Given the description of an element on the screen output the (x, y) to click on. 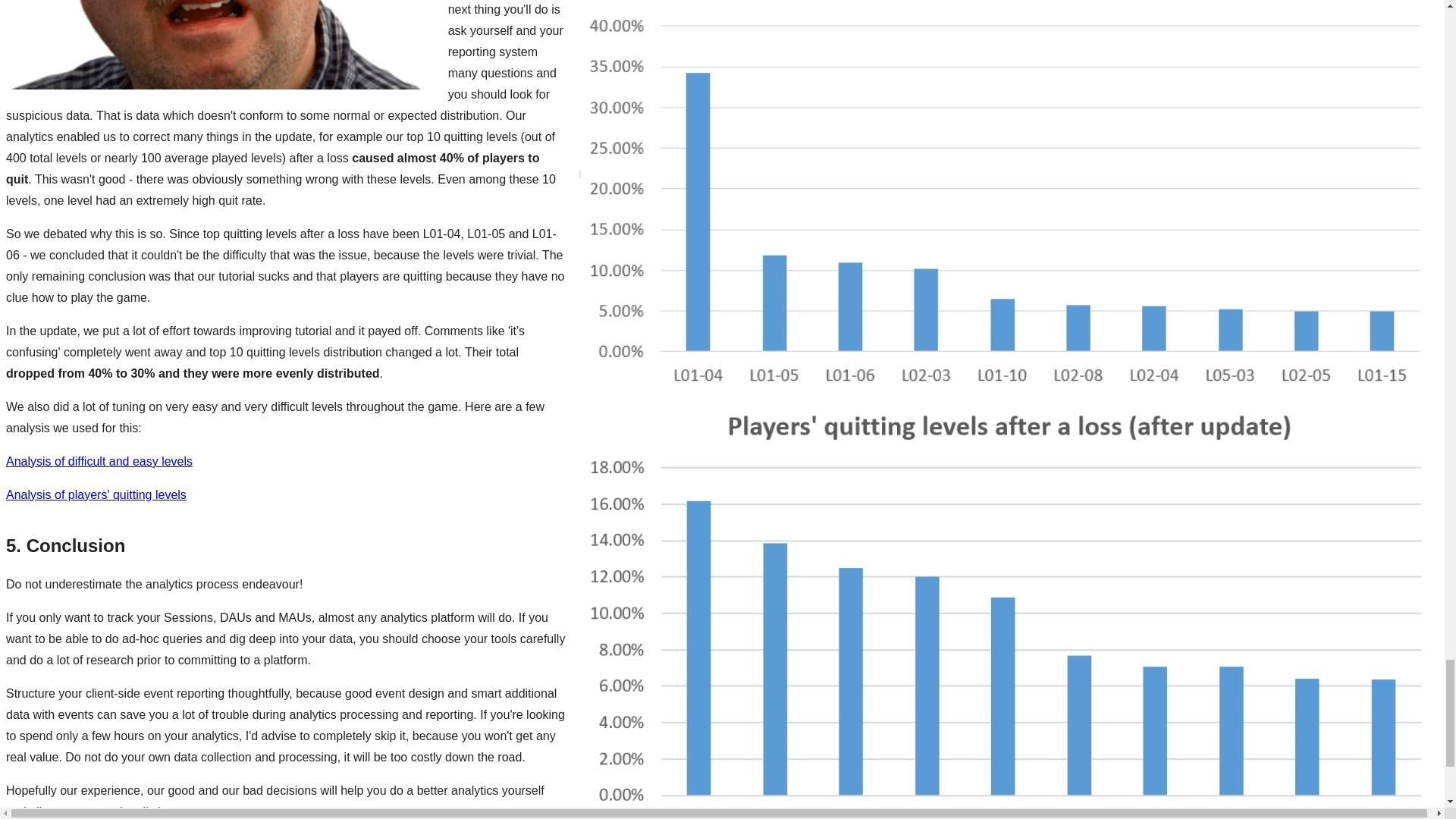
Analysis of difficult and easy levels (98, 461)
Analysis of difficult and easy levels (98, 461)
Analysis of players' quitting levels (95, 494)
